Given the description of an element on the screen output the (x, y) to click on. 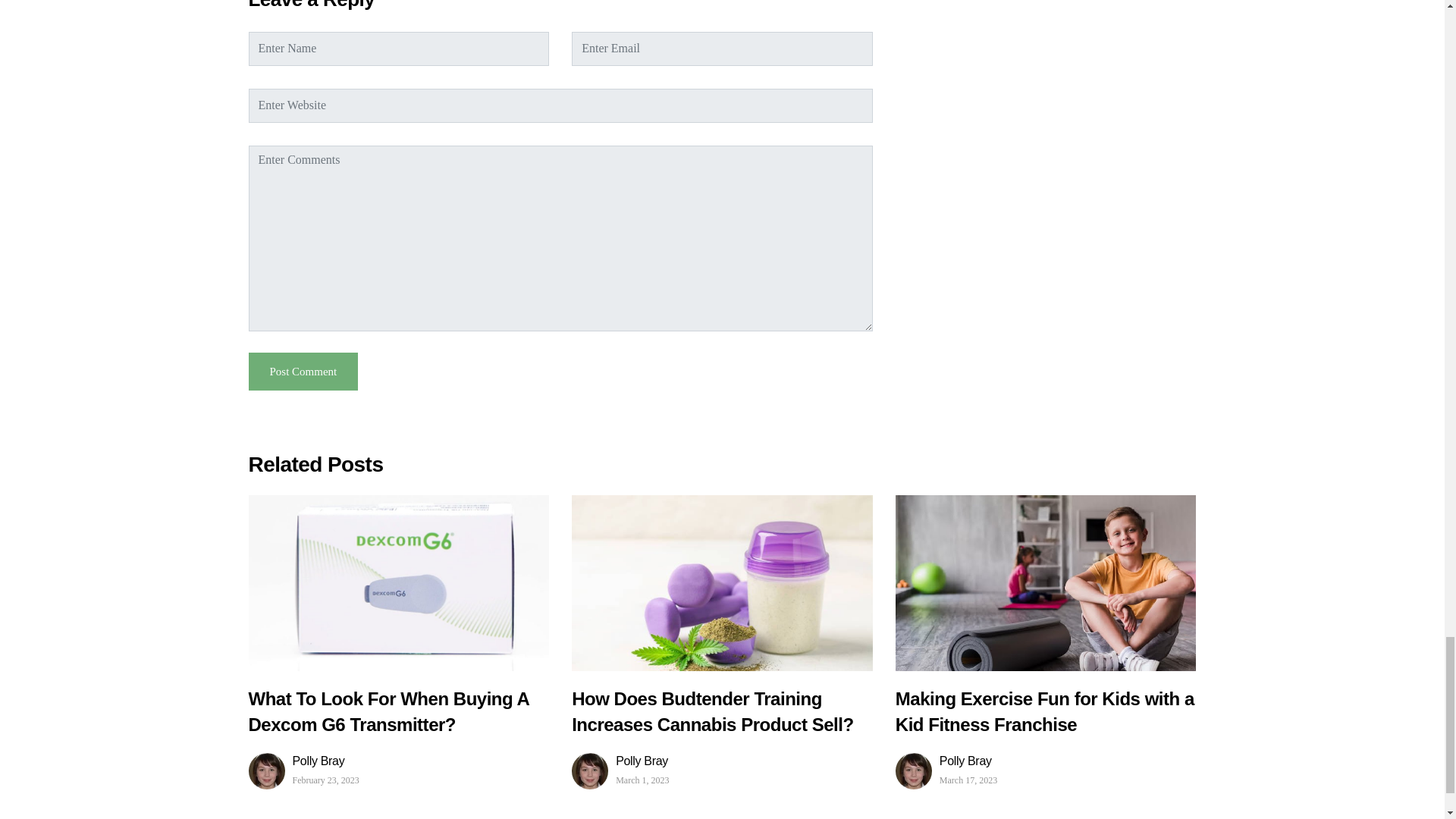
Post Comment (303, 371)
Post Comment (303, 371)
